Given the description of an element on the screen output the (x, y) to click on. 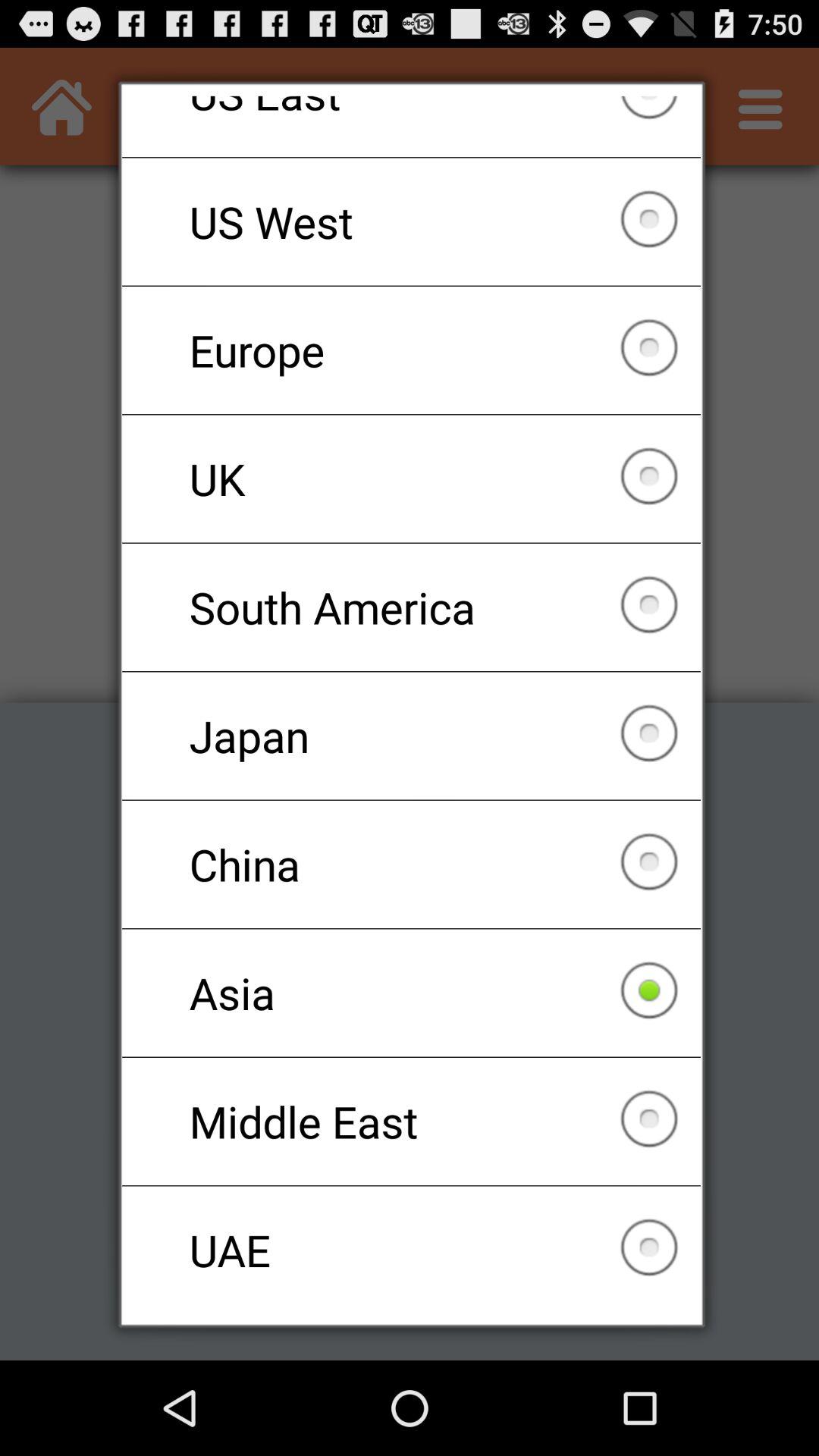
open item above the     south america checkbox (411, 478)
